Given the description of an element on the screen output the (x, y) to click on. 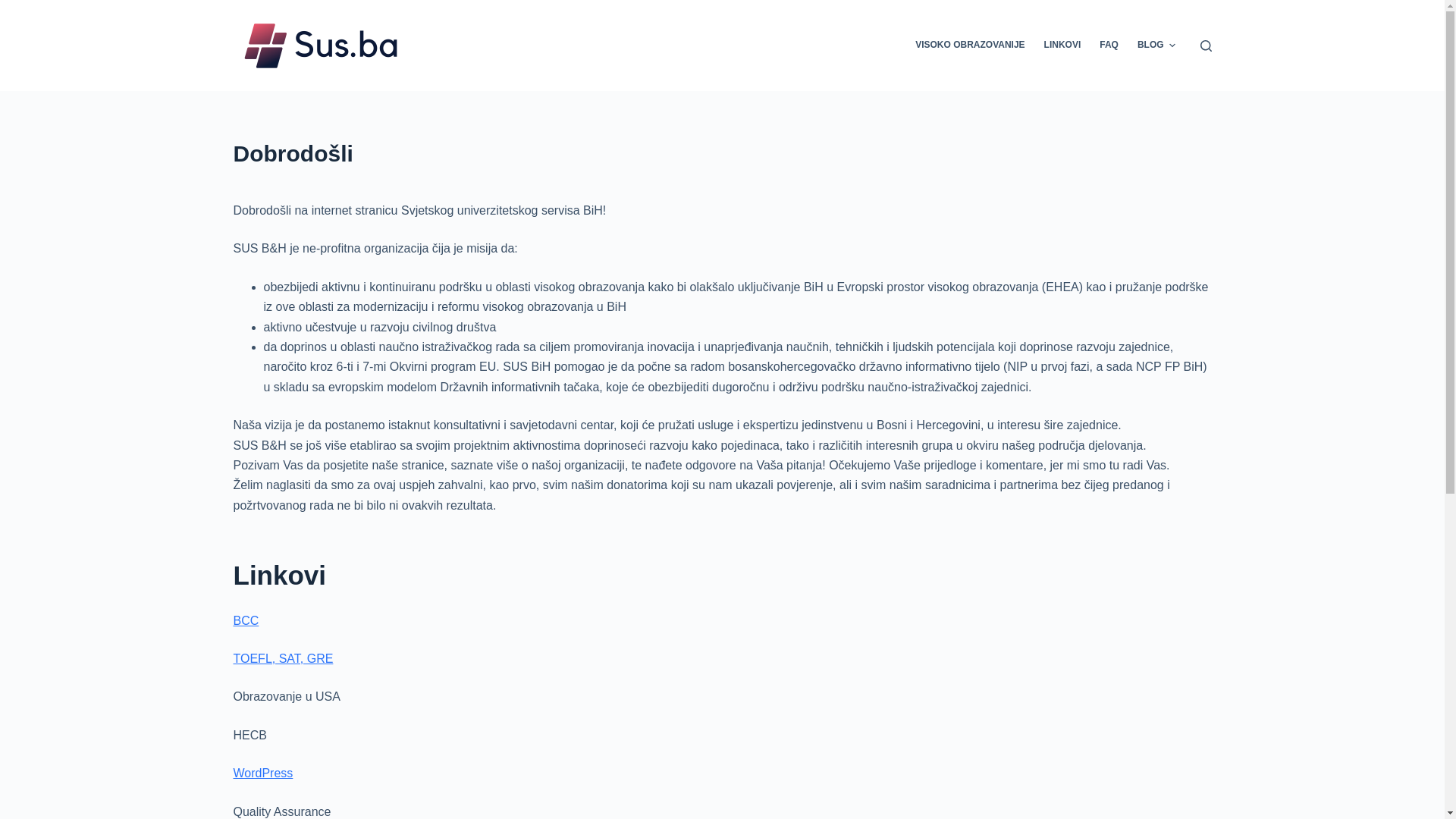
BCC Element type: text (246, 620)
LINKOVI Element type: text (1062, 45)
FAQ Element type: text (1109, 45)
Skip to content Element type: text (15, 7)
BLOG Element type: text (1155, 45)
VISOKO OBRAZOVANIJE Element type: text (970, 45)
WordPress Element type: text (263, 772)
TOEFL, SAT, GRE Element type: text (283, 658)
